Given the description of an element on the screen output the (x, y) to click on. 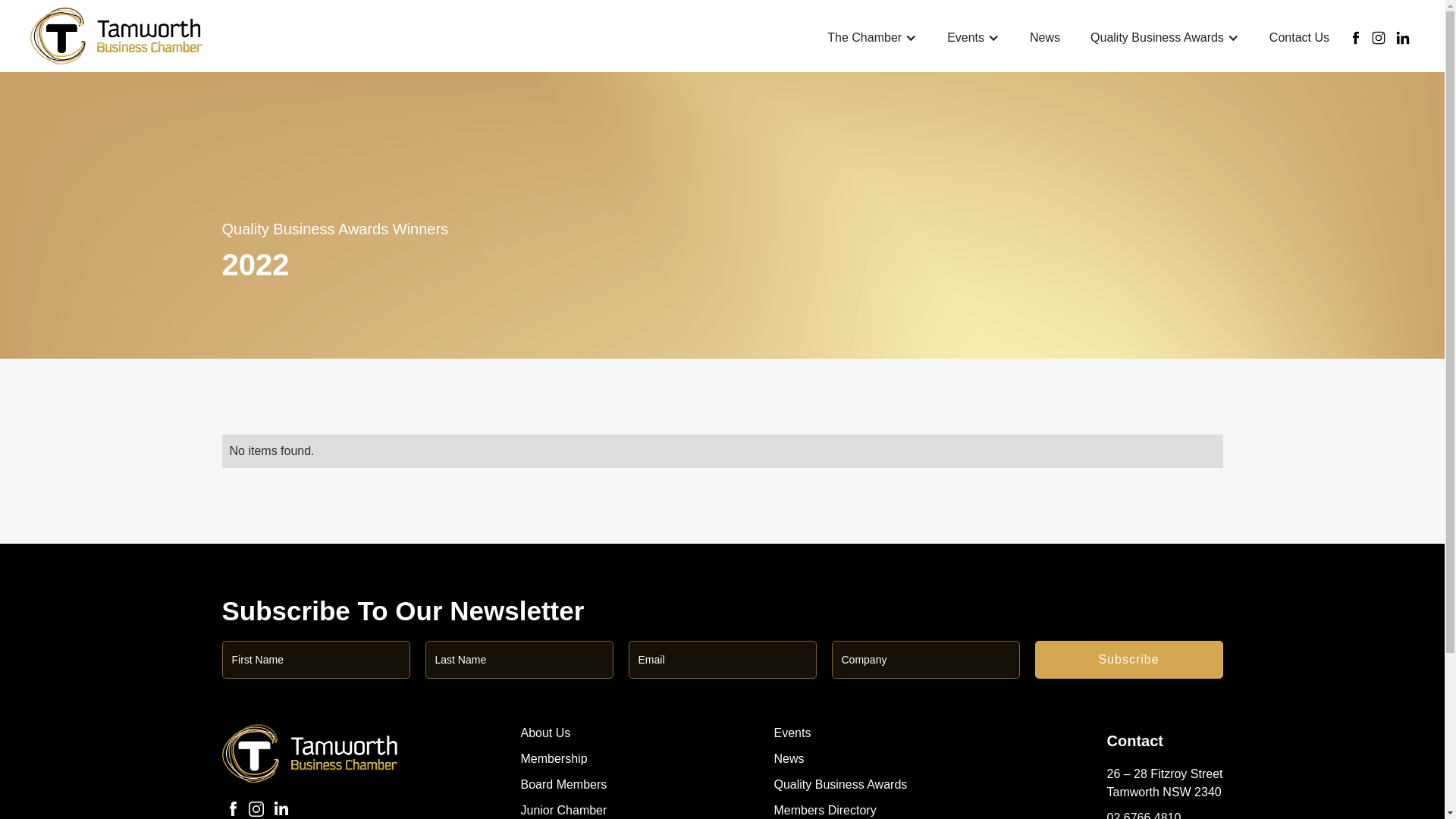
About Us Element type: text (545, 732)
News Element type: text (788, 758)
Subscribe Element type: text (1128, 659)
Membership Element type: text (553, 758)
Contact Us Element type: text (1299, 37)
News Element type: text (1044, 37)
Board Members Element type: text (563, 784)
Members Directory Element type: text (824, 809)
Quality Business Awards Element type: text (839, 784)
Junior Chamber Element type: text (563, 809)
Events Element type: text (791, 732)
